Given the description of an element on the screen output the (x, y) to click on. 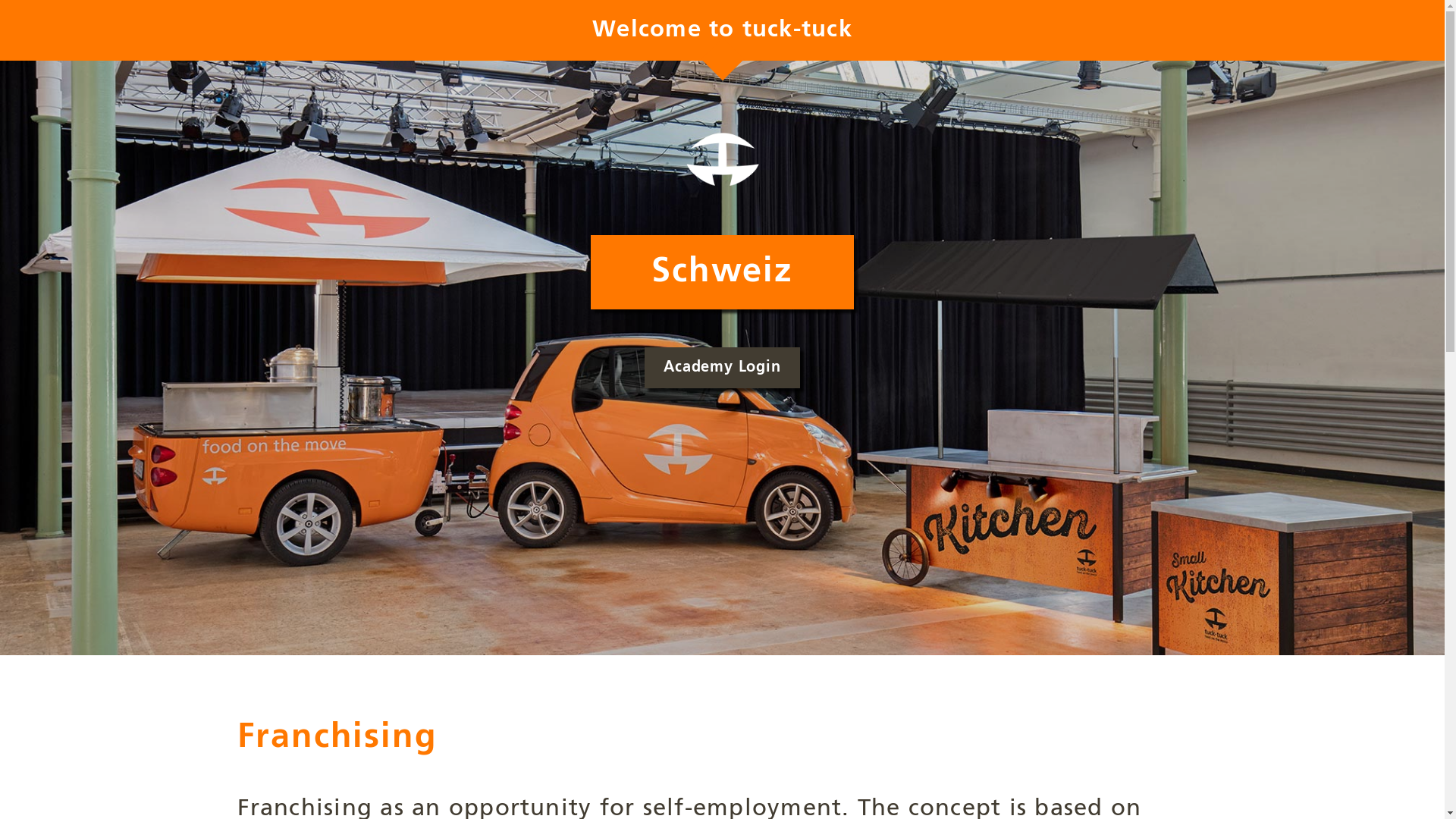
Academy Login Element type: text (721, 367)
Schweiz Element type: text (721, 272)
